Given the description of an element on the screen output the (x, y) to click on. 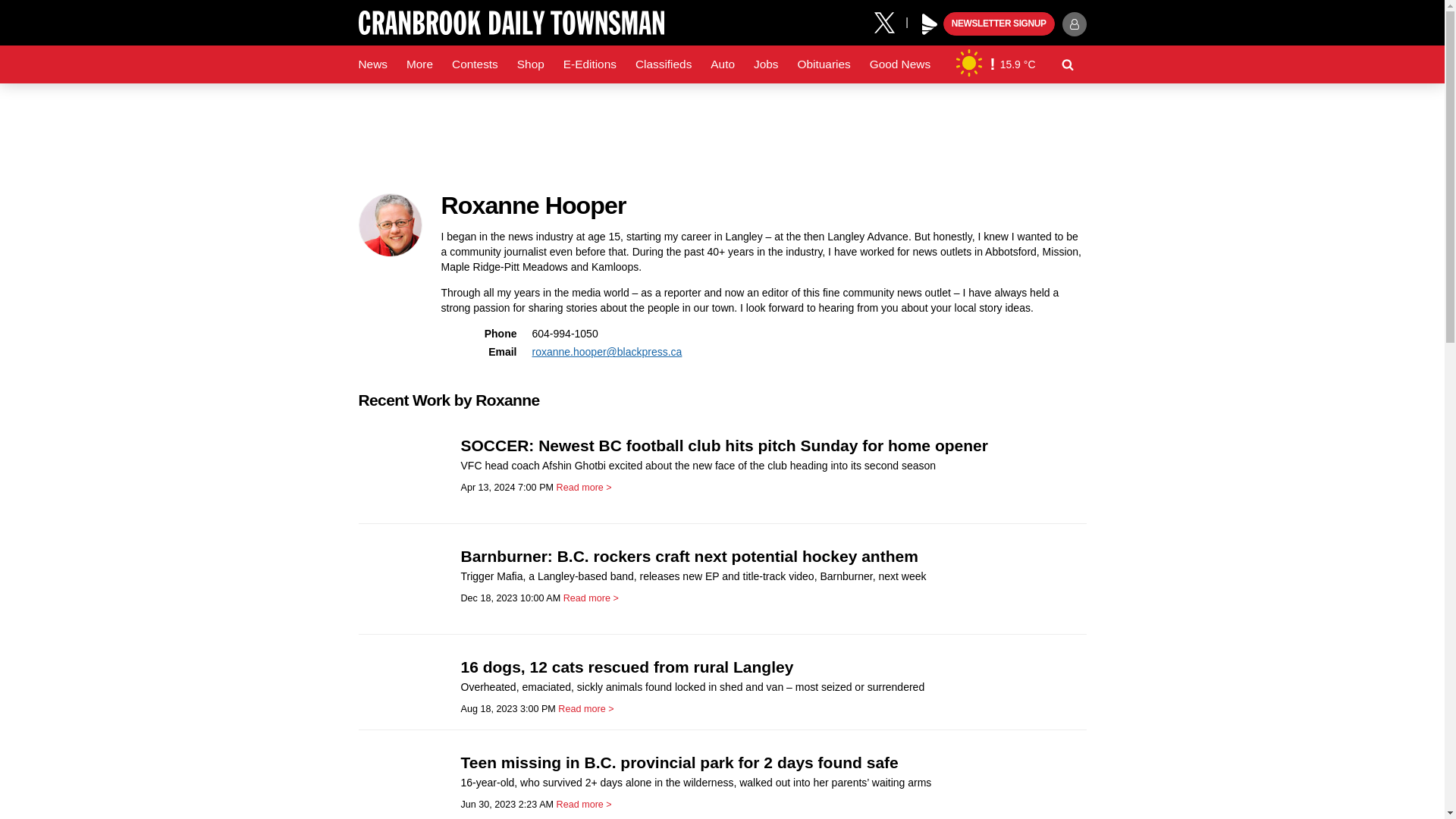
Play (929, 24)
News (372, 64)
X (889, 21)
Black Press Media (929, 24)
NEWSLETTER SIGNUP (998, 24)
